Given the description of an element on the screen output the (x, y) to click on. 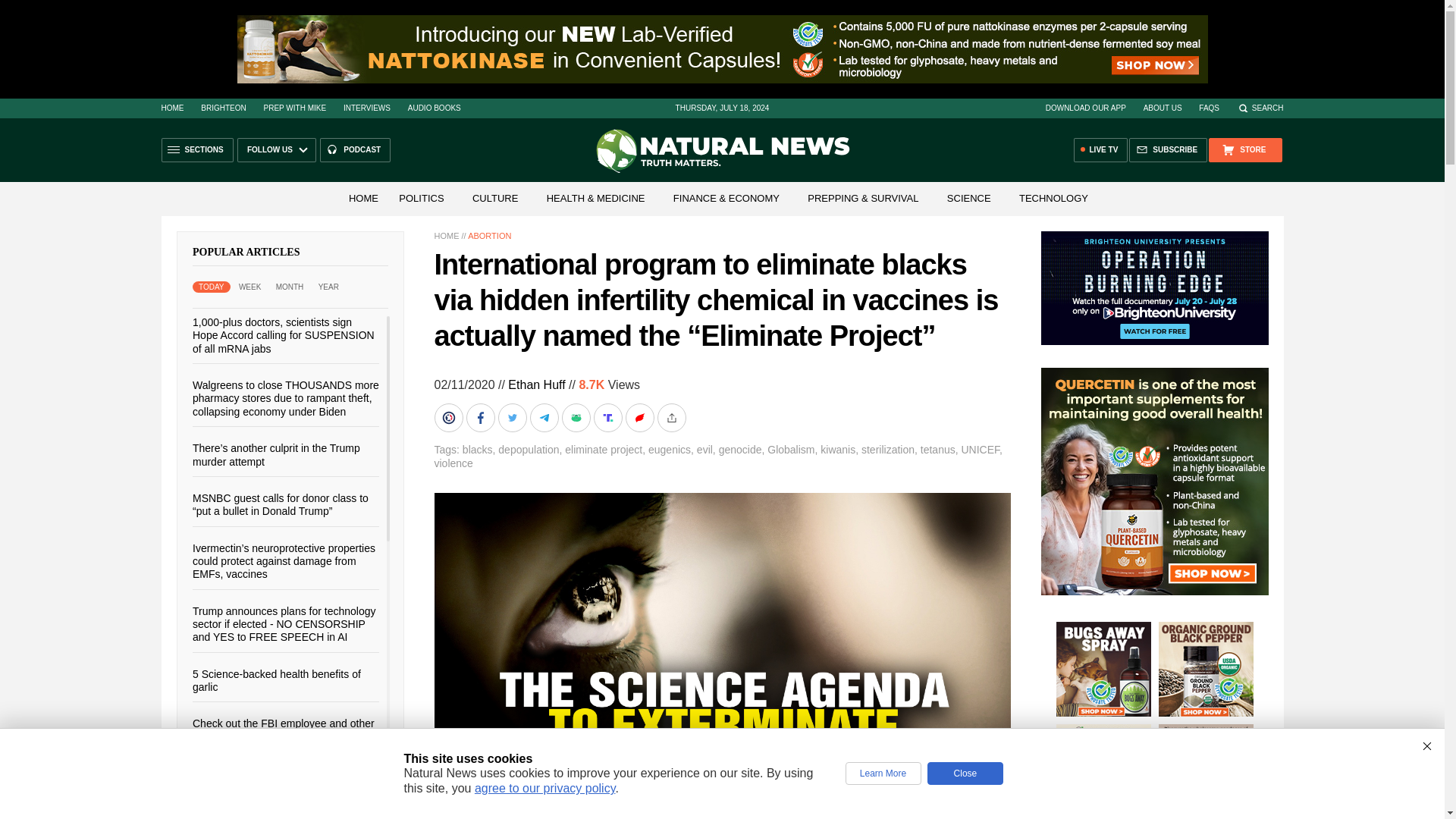
Share on GAB (576, 417)
Share on Twitter (513, 417)
Share on Facebook (481, 417)
Share on Brighteon.Social (449, 417)
AUDIO BOOKS (434, 108)
TECHNOLOGY (1053, 197)
LIVE TV (1101, 150)
Search (1260, 108)
PREP WITH MIKE (294, 108)
Share on Truth.Social (608, 417)
Share on Gettr (640, 417)
DOWNLOAD OUR APP (1085, 108)
